Given the description of an element on the screen output the (x, y) to click on. 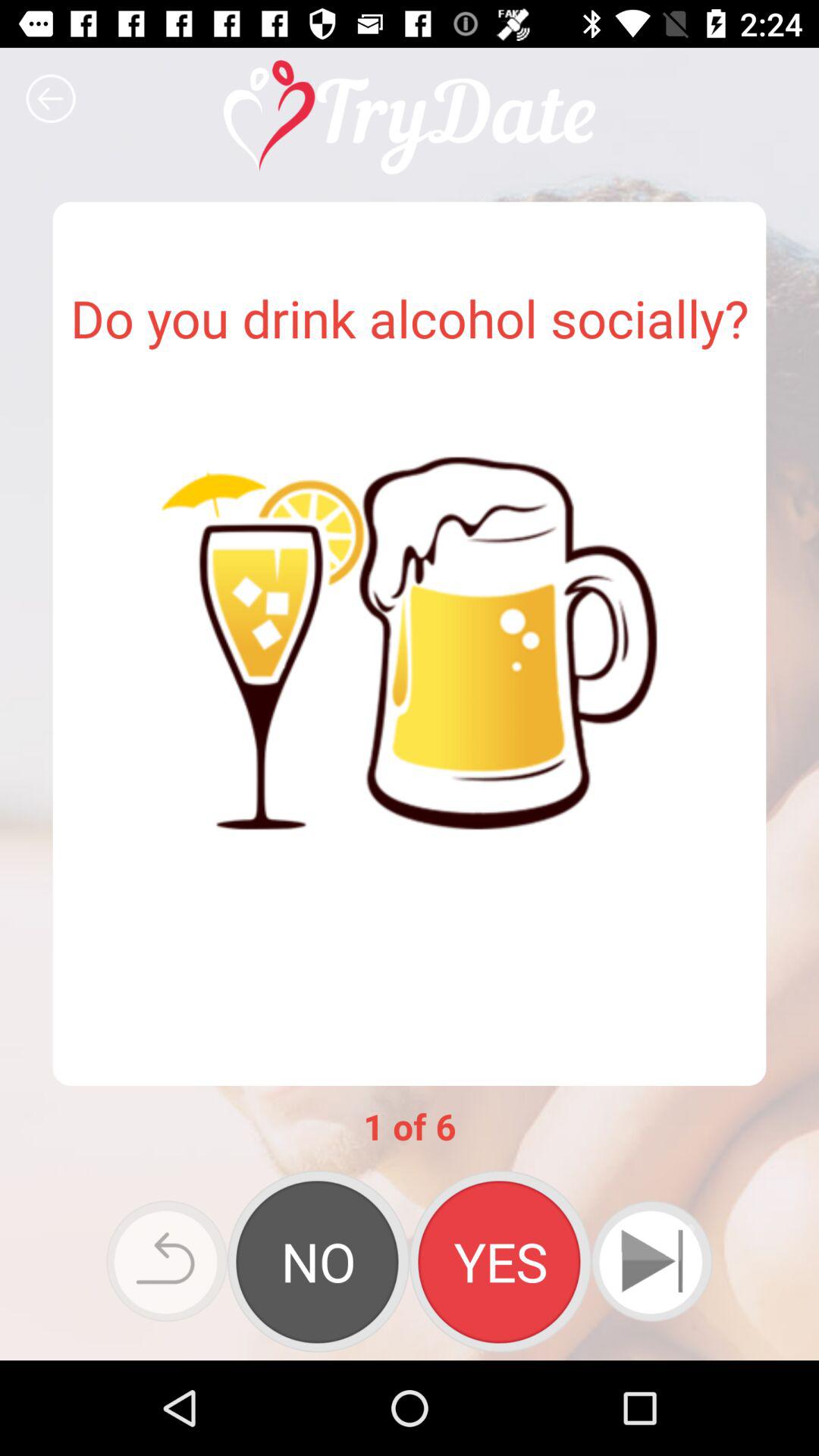
select answer yes option (500, 1261)
